Given the description of an element on the screen output the (x, y) to click on. 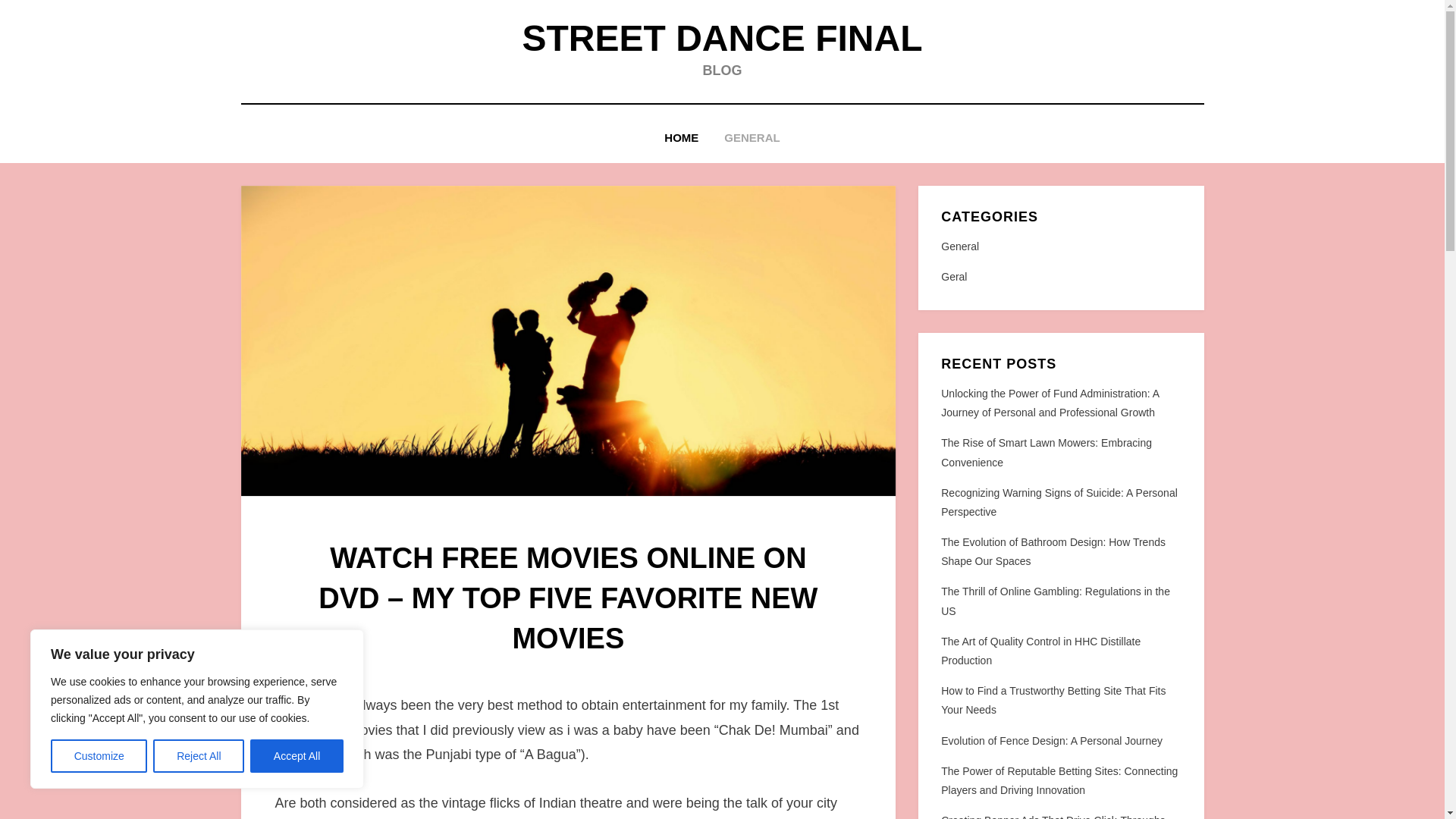
General (1060, 246)
Recognizing Warning Signs of Suicide: A Personal Perspective (1058, 501)
HOME (680, 137)
GENERAL (751, 137)
Street Dance Final (721, 38)
Customize (98, 756)
The Thrill of Online Gambling: Regulations in the US (1055, 600)
Accept All (296, 756)
Geral (1060, 276)
Reject All (198, 756)
The Art of Quality Control in HHC Distillate Production (1040, 650)
STREET DANCE FINAL (721, 38)
The Rise of Smart Lawn Mowers: Embracing Convenience (1045, 451)
